Given the description of an element on the screen output the (x, y) to click on. 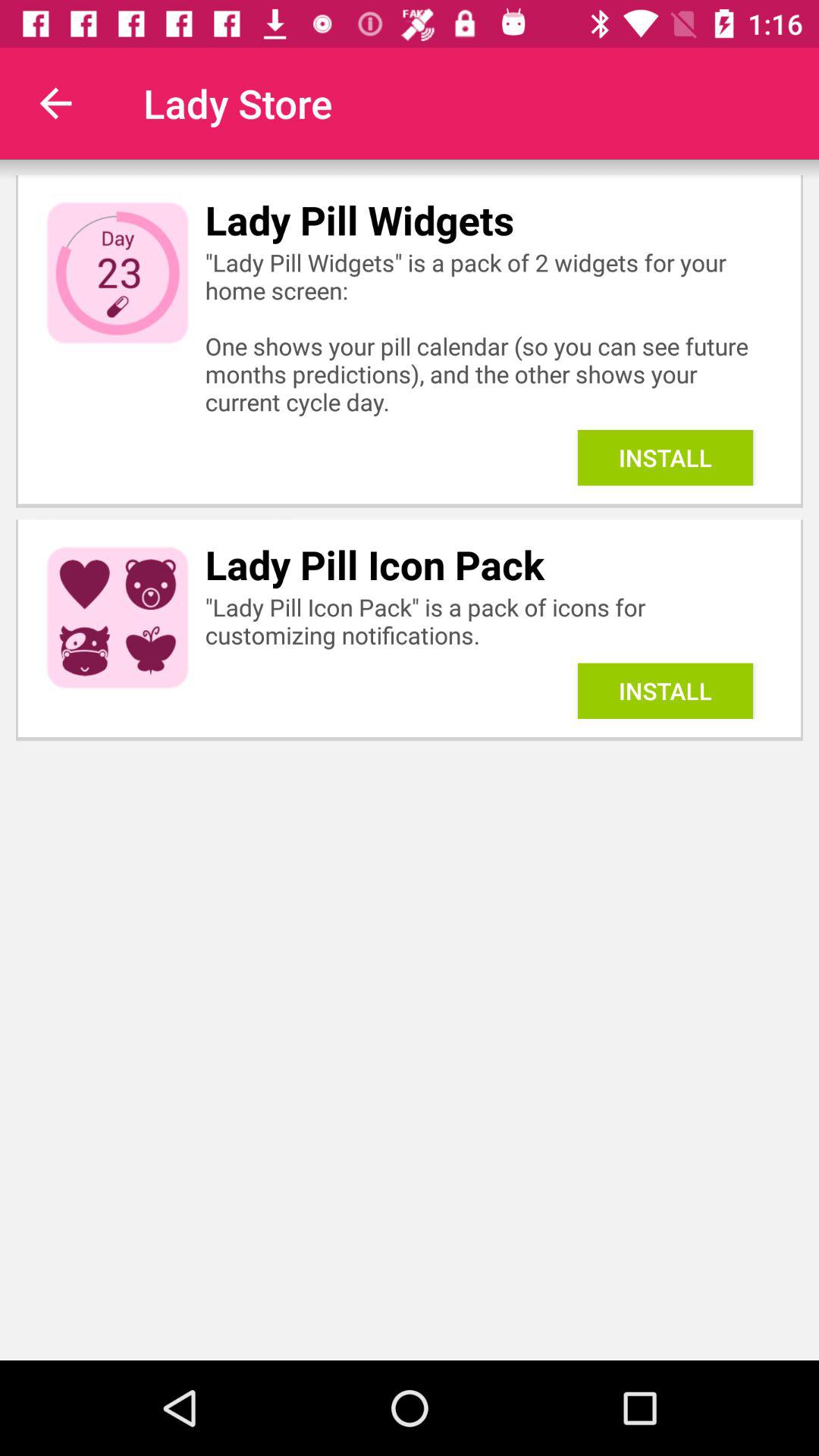
press item to the left of lady store (55, 103)
